Given the description of an element on the screen output the (x, y) to click on. 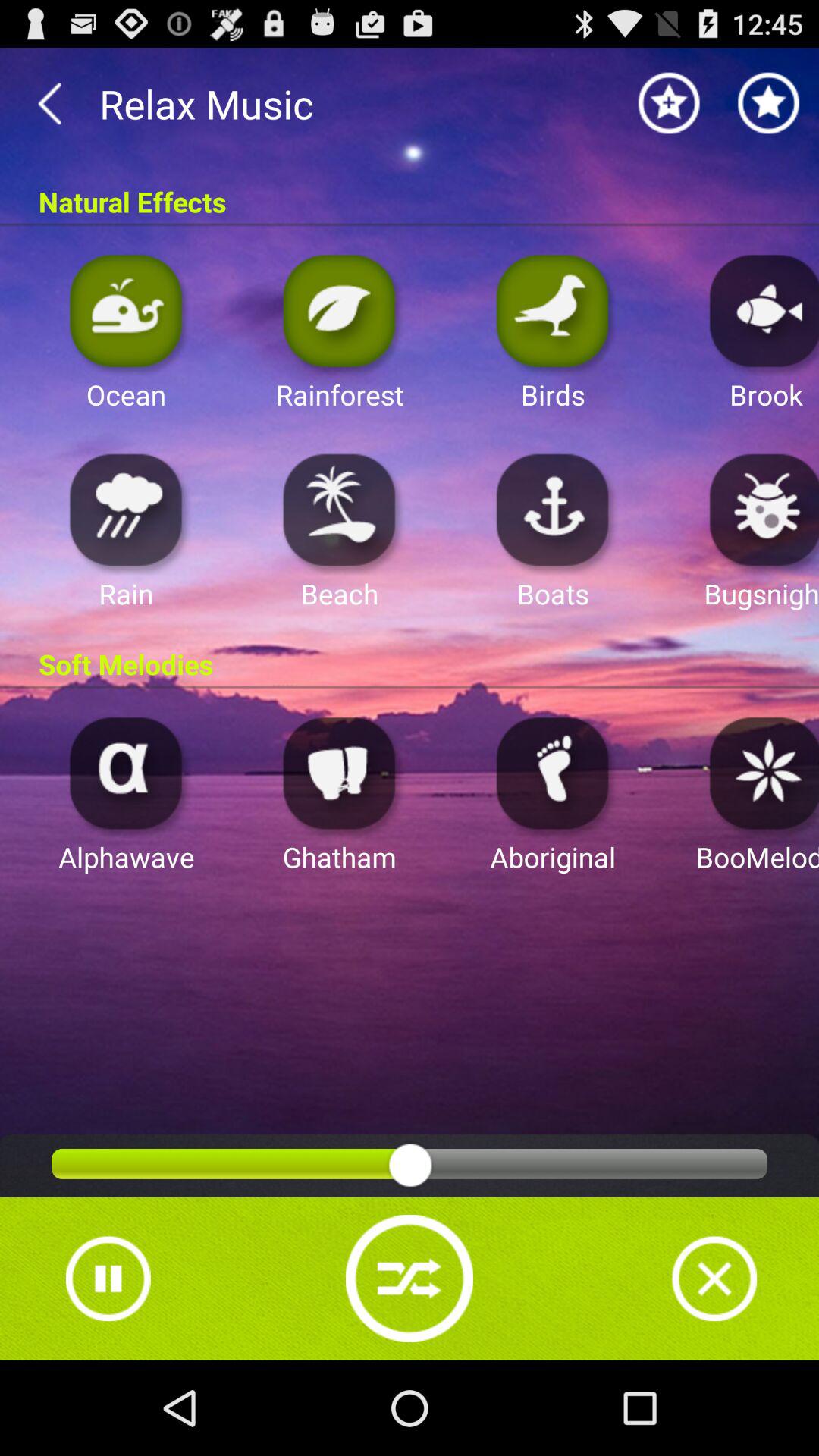
acess beach item (339, 509)
